Given the description of an element on the screen output the (x, y) to click on. 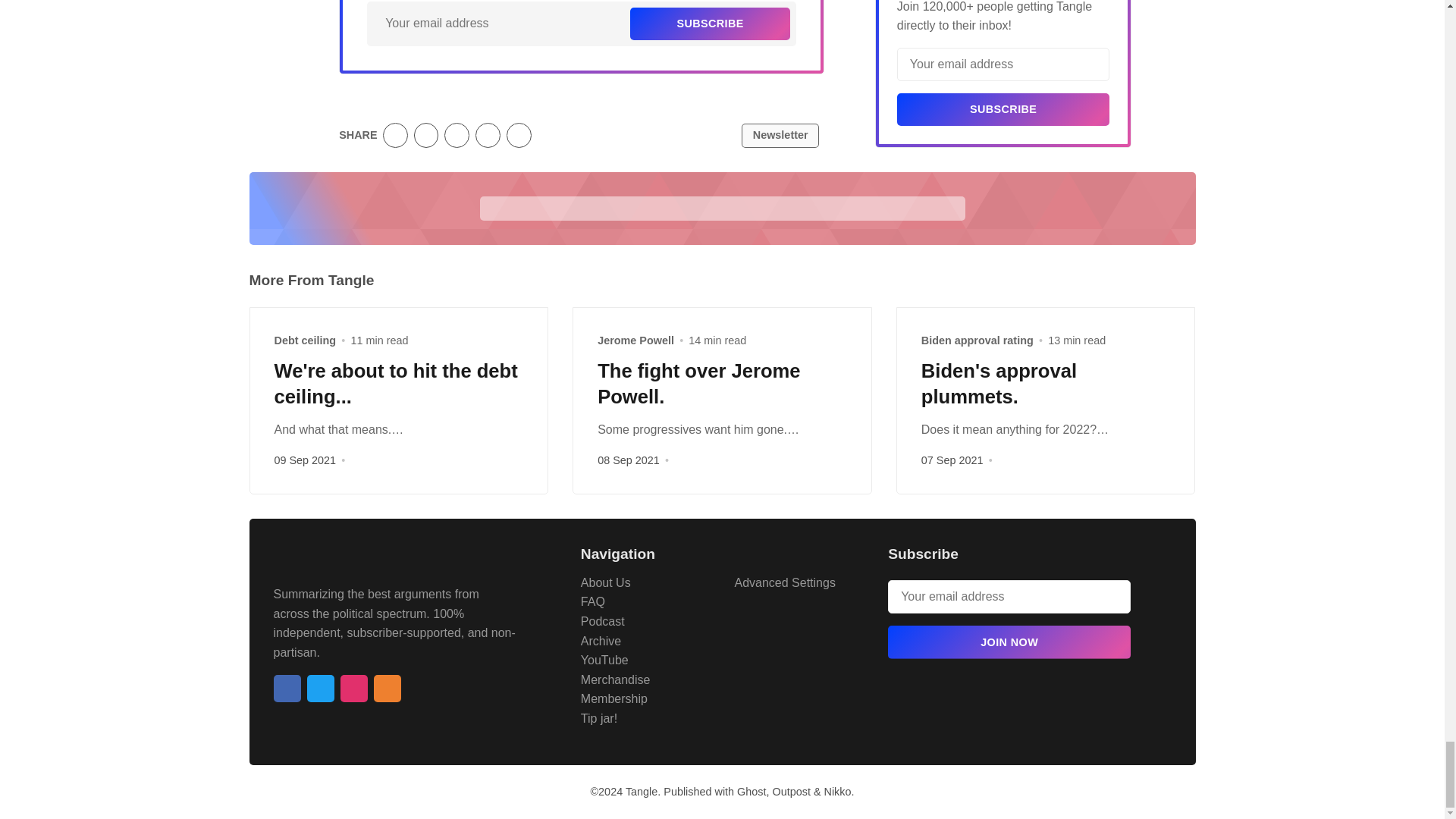
Share on Facebook (426, 135)
Instagram (352, 687)
RSS (386, 687)
Share on Linkedin (456, 135)
Copy to clipboard (518, 135)
Share by email (488, 135)
Facebook (286, 687)
Share on Twitter (394, 135)
Twitter (319, 687)
